Given the description of an element on the screen output the (x, y) to click on. 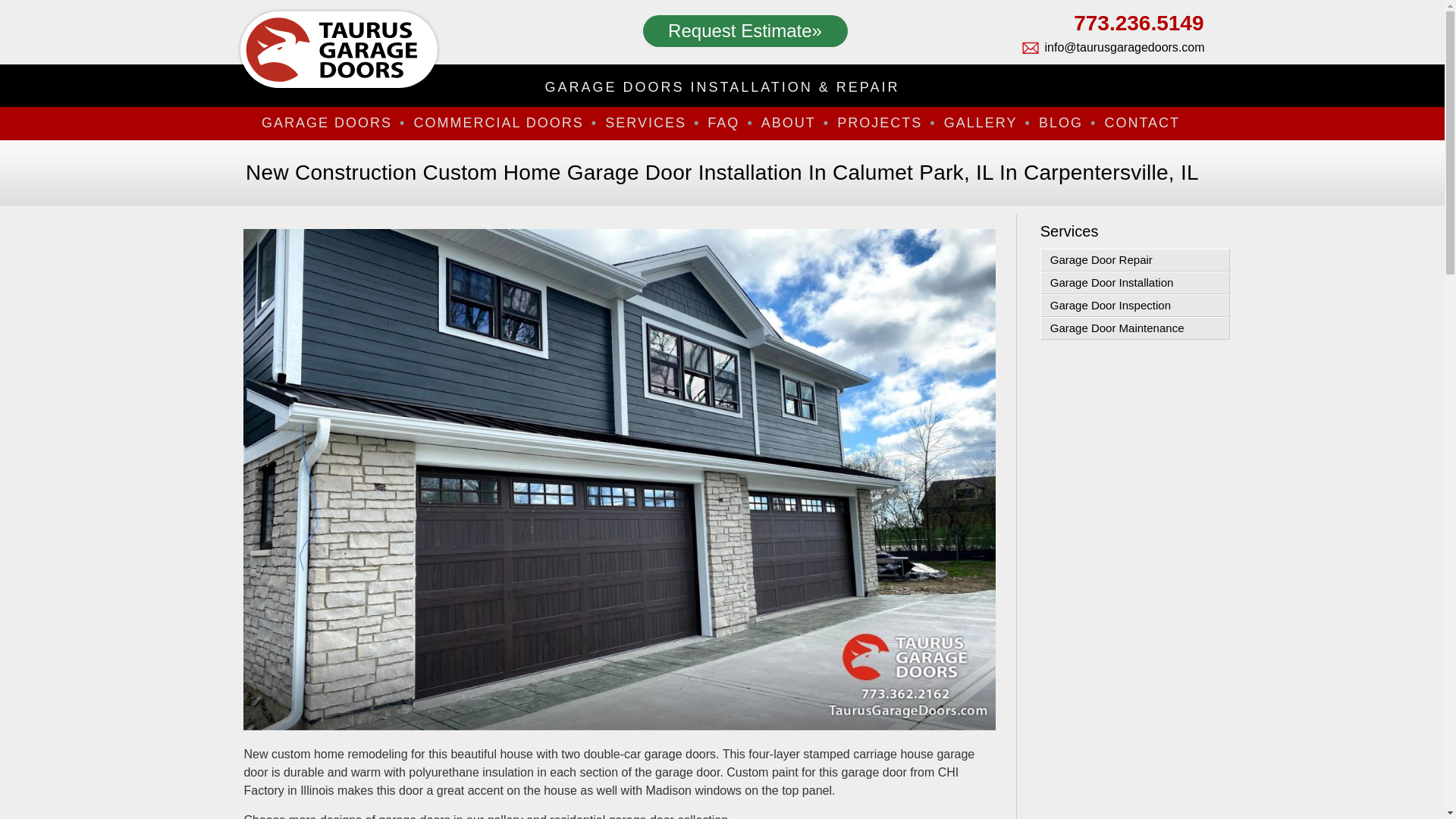
773.236.5149 (1113, 27)
PROJECTS (884, 122)
SERVICES (650, 122)
Garage Door Repair (1135, 259)
Garage Door Maintenance (1135, 327)
Garage Door Inspection (1135, 305)
ABOUT (793, 122)
BLOG (1066, 122)
COMMERCIAL DOORS (502, 122)
GARAGE DOORS (331, 122)
Garage Door Installation (1135, 282)
CONTACT (1143, 122)
GALLERY (986, 122)
FAQ (728, 122)
